Given the description of an element on the screen output the (x, y) to click on. 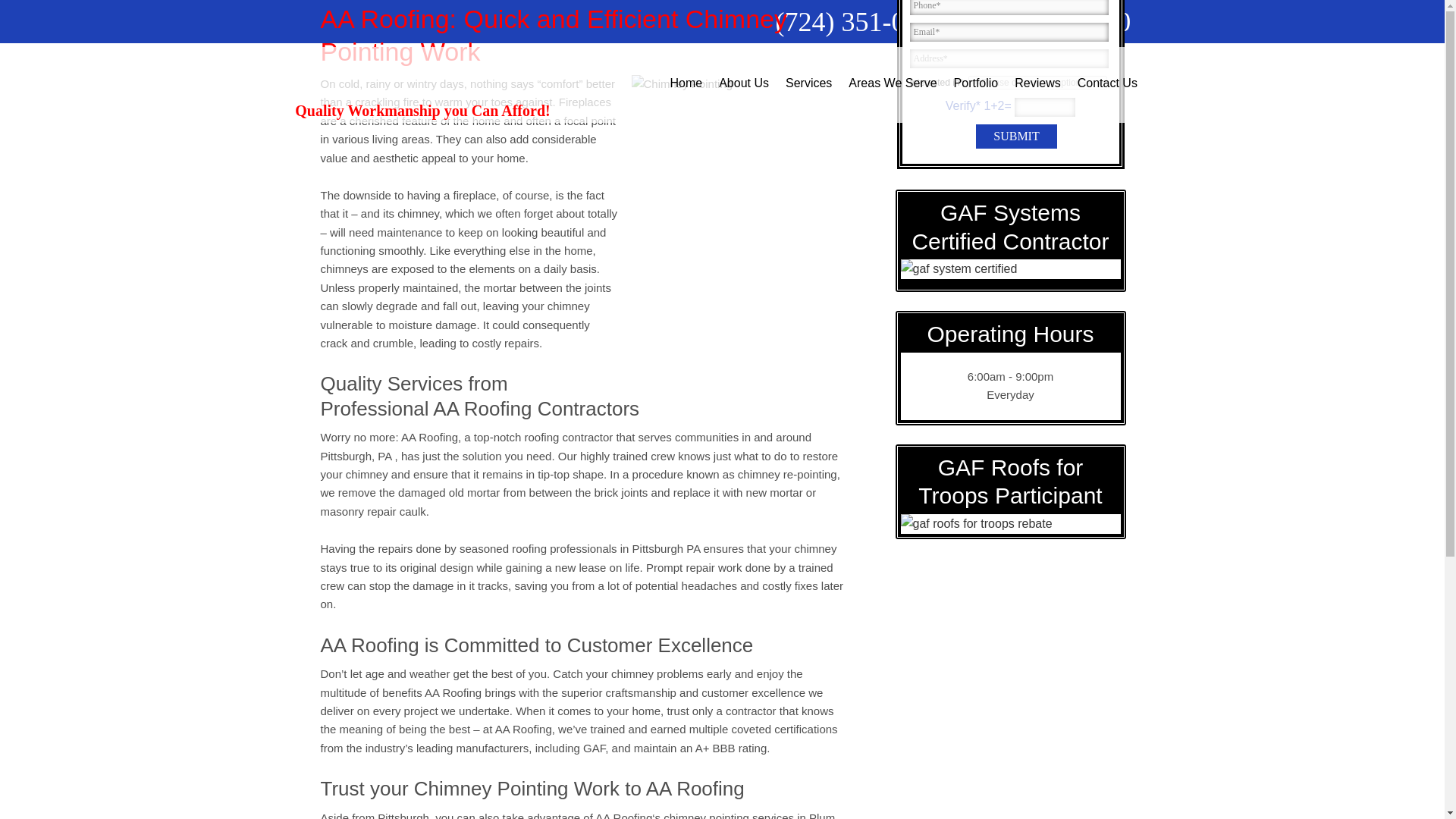
BBB (337, 19)
About Us (743, 83)
AA Roofing (421, 72)
Facebook (308, 19)
Services (808, 83)
GAF (425, 19)
Home (685, 83)
Portfolio (975, 83)
Reviews (1037, 83)
Areas We Serve (892, 83)
Yelp (365, 19)
submit (1016, 136)
submit (1016, 136)
Contact Us (1106, 83)
